Given the description of an element on the screen output the (x, y) to click on. 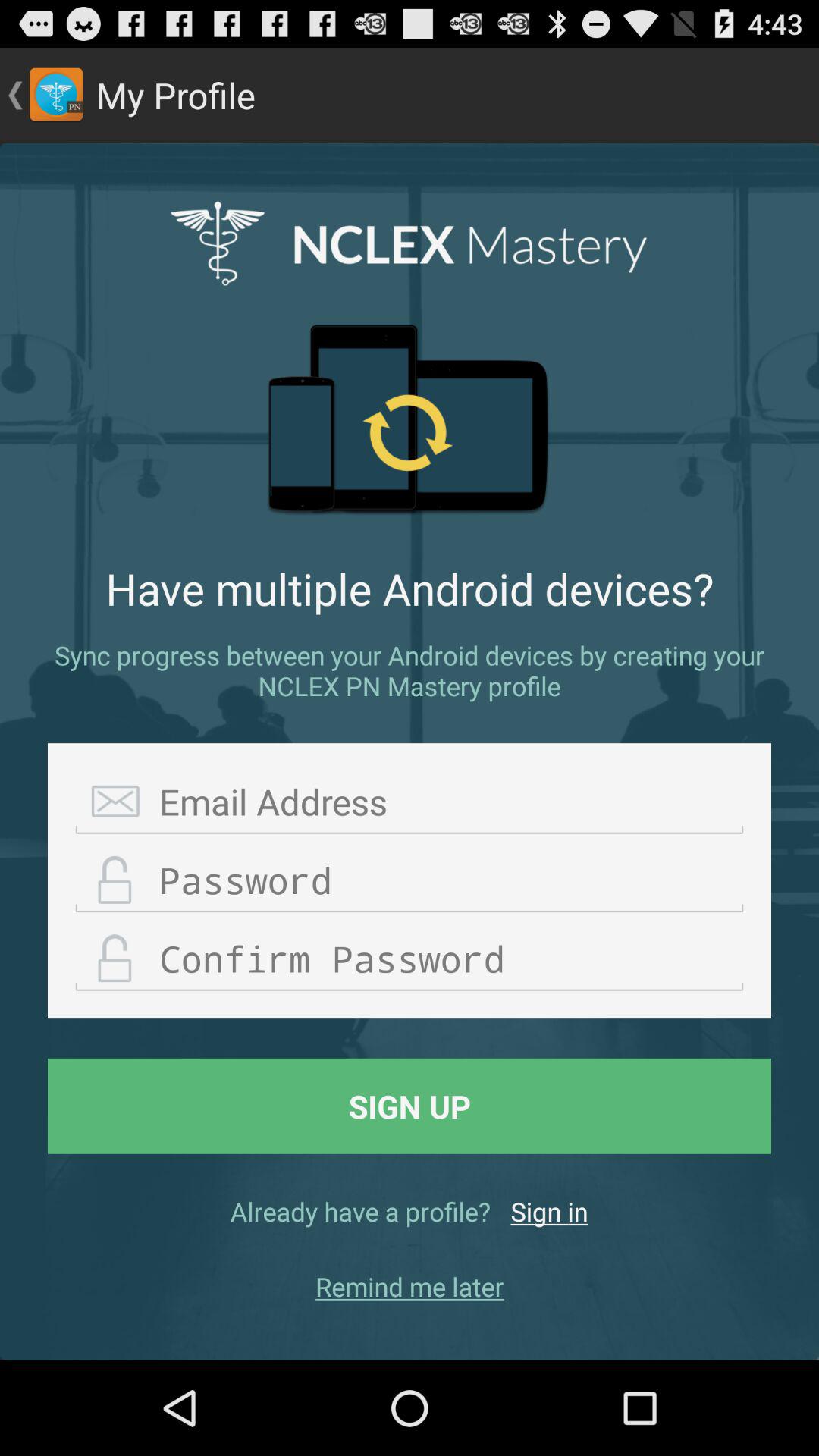
turn off the item below sync progress between icon (409, 802)
